Given the description of an element on the screen output the (x, y) to click on. 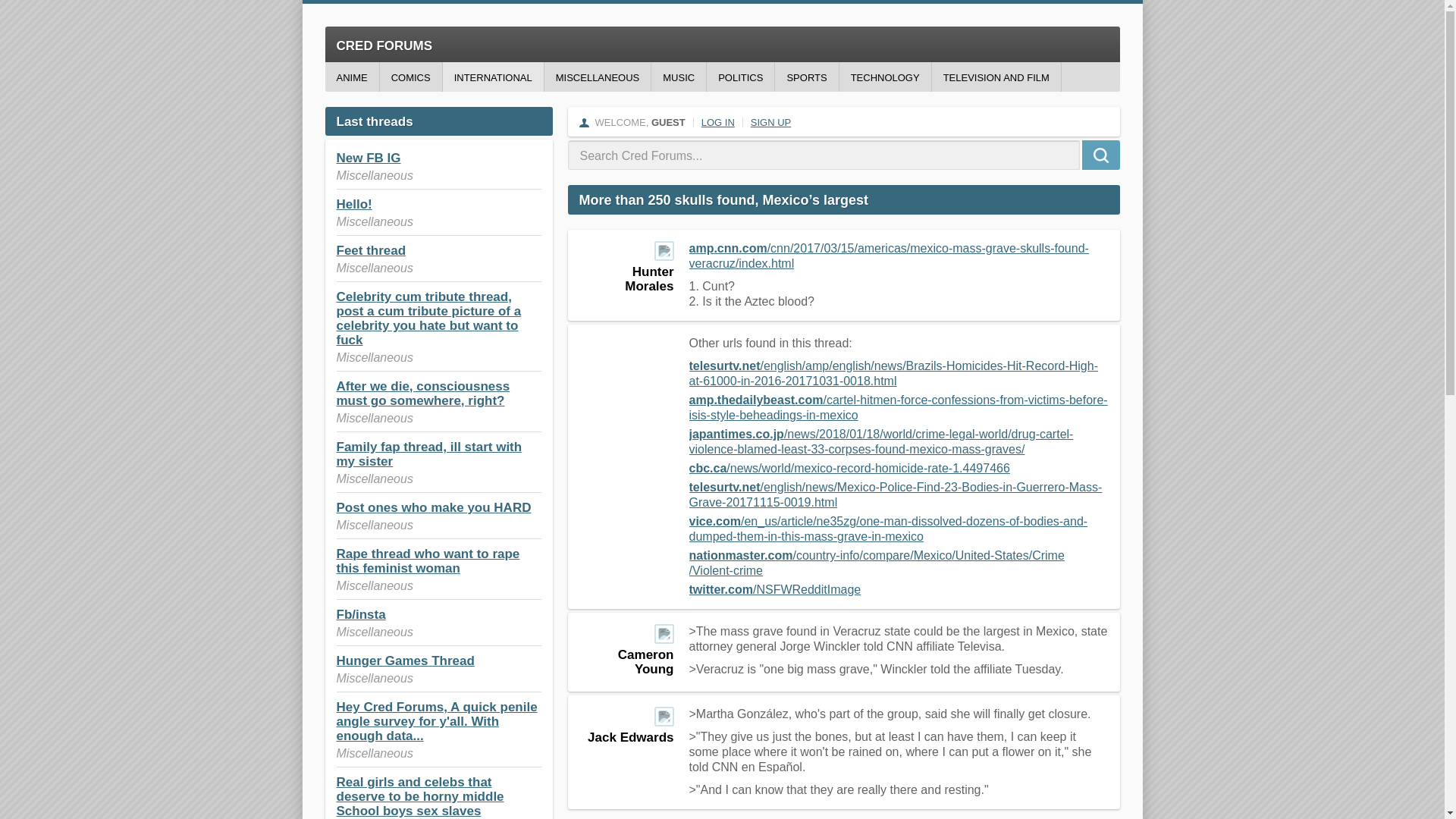
Feet thread (371, 250)
Rape thread who want to rape this feminist woman (427, 561)
New FB IG (368, 157)
MISCELLANEOUS (597, 76)
After we die, consciousness must go somewhere, right? (423, 393)
Hunger Games Thread (405, 660)
New FB IG (368, 157)
MUSIC (678, 76)
Post ones who make you HARD (433, 507)
